Given the description of an element on the screen output the (x, y) to click on. 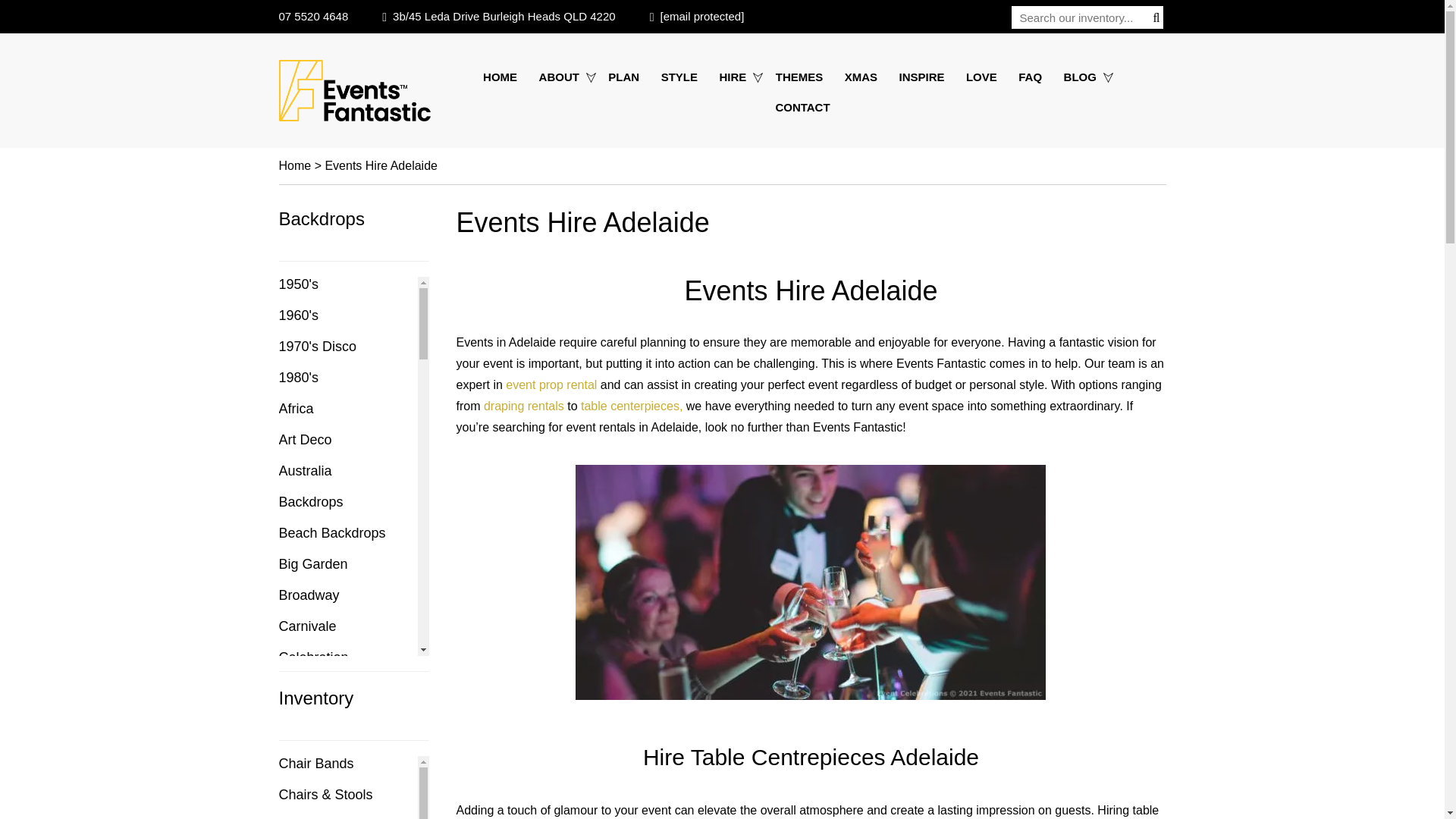
STYLE (679, 77)
Hire (736, 77)
Plan (622, 77)
07 5520 4648 (314, 15)
ABOUT (562, 77)
PLAN (622, 77)
Style (679, 77)
HOME (504, 77)
HIRE (736, 77)
Home (504, 77)
ABOUT (562, 77)
